Given the description of an element on the screen output the (x, y) to click on. 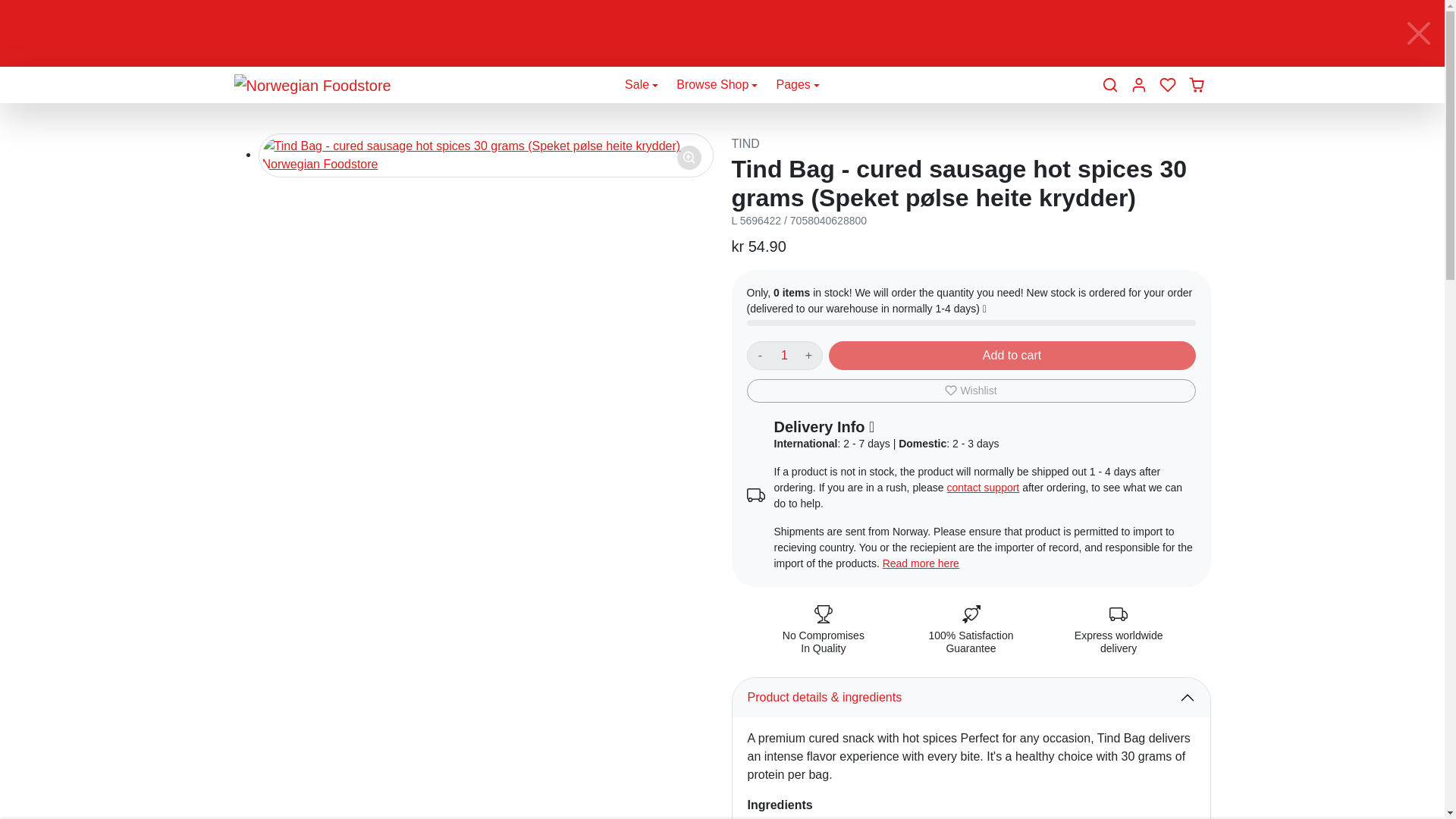
1 (783, 355)
Contact us - Support (983, 487)
Sale (640, 84)
Browse Shop (716, 84)
